Given the description of an element on the screen output the (x, y) to click on. 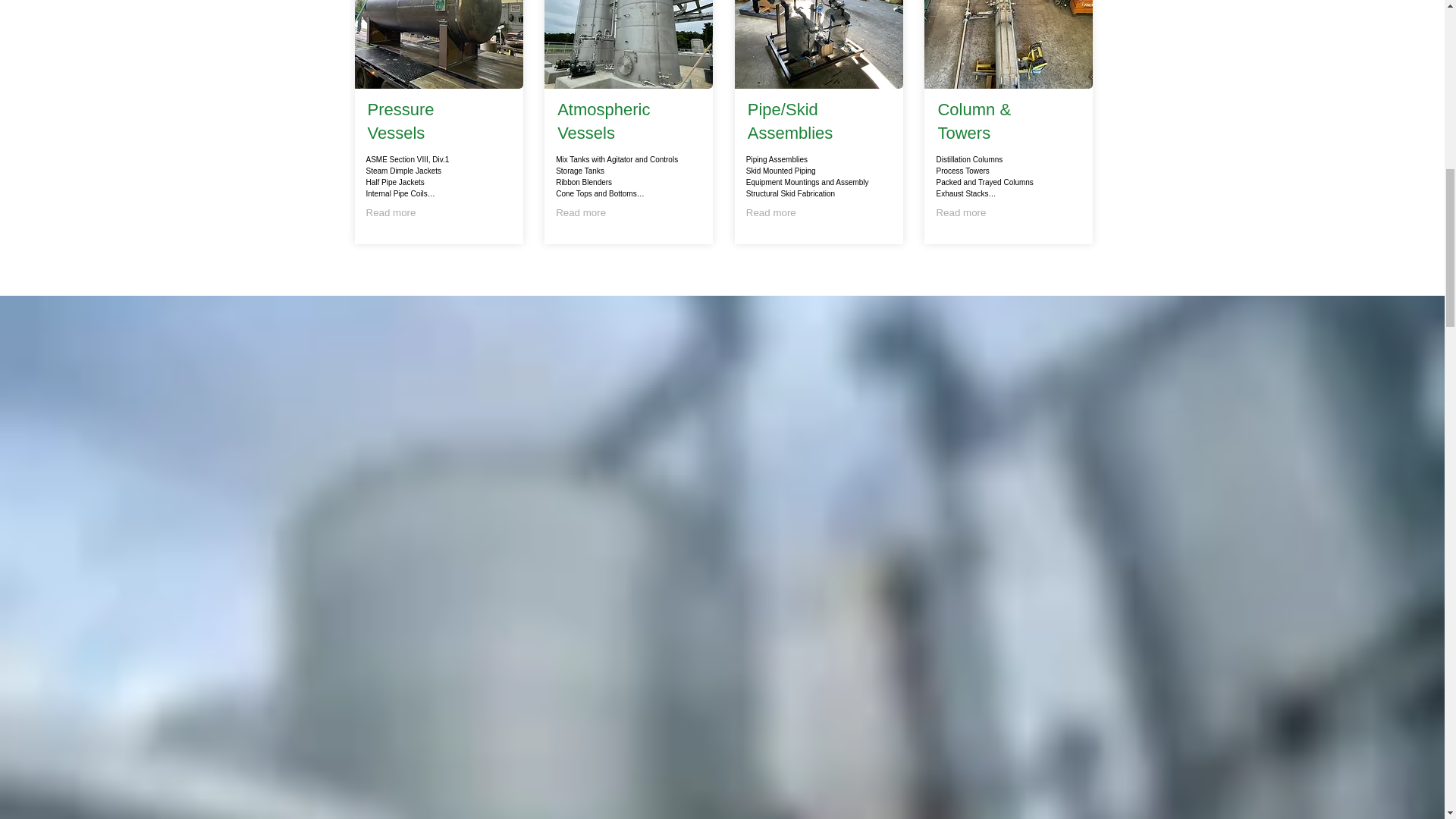
Read more (389, 212)
Read more (580, 212)
Read more (770, 212)
Read more (960, 212)
